Given the description of an element on the screen output the (x, y) to click on. 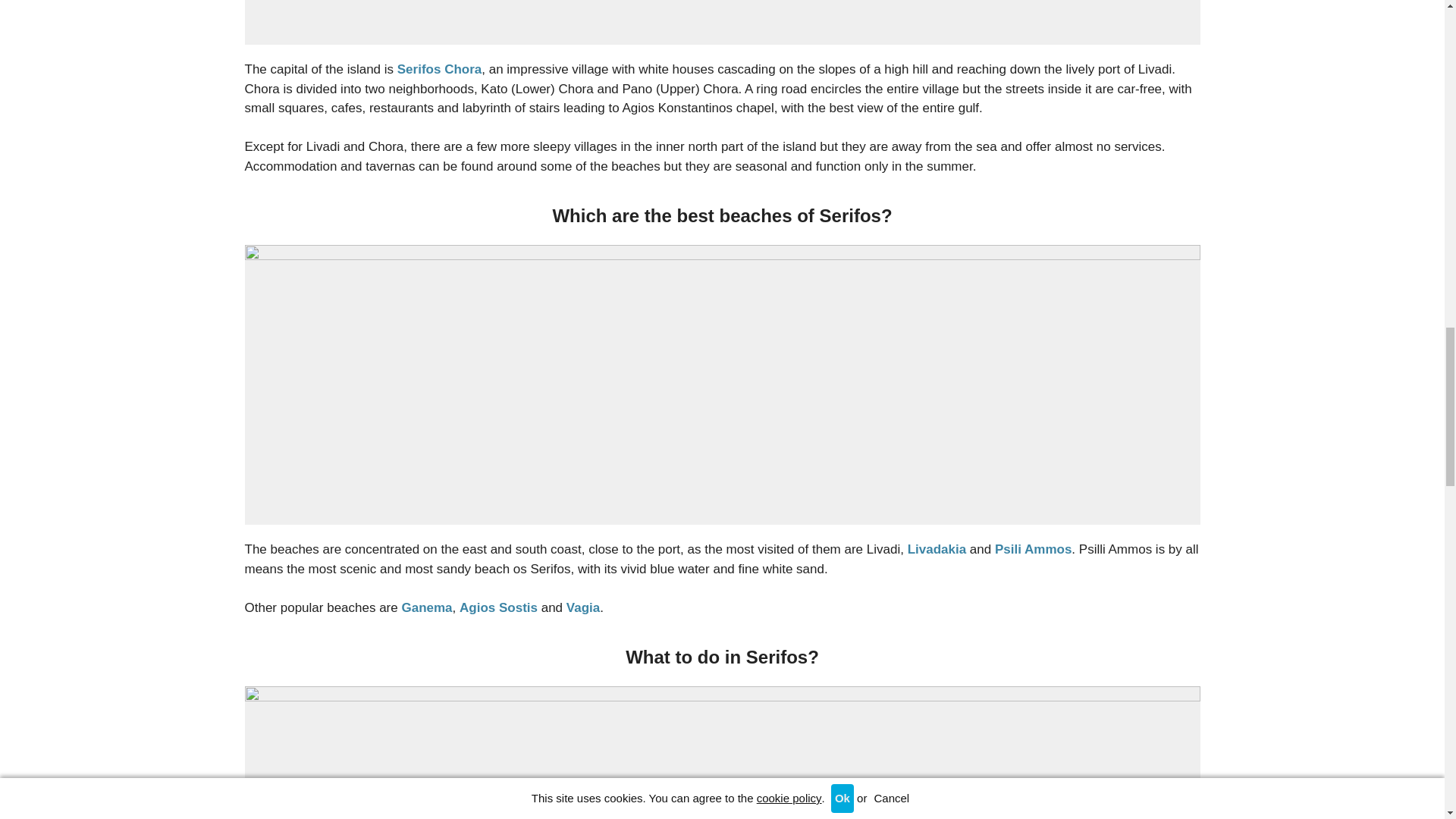
Psili Ammos (1032, 549)
Vagia (582, 607)
Agios Sostis (498, 607)
Livadakia (936, 549)
Serifos Chora (439, 69)
Ganema (426, 607)
